Given the description of an element on the screen output the (x, y) to click on. 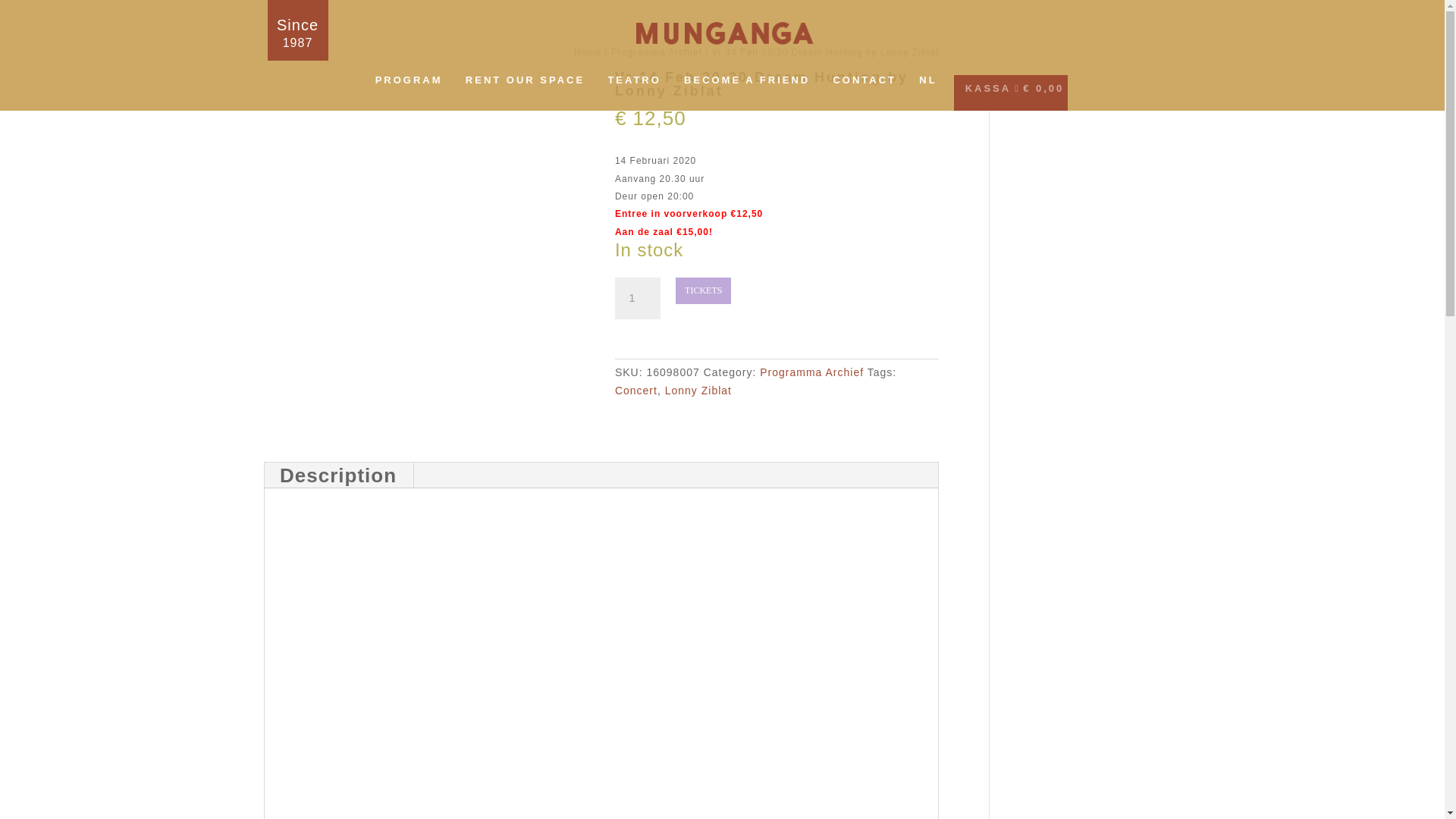
RENT OUR SPACE (525, 86)
1 (637, 298)
Description (338, 475)
Programma Archief (656, 51)
BECOME A FRIEND (746, 86)
PROGRAM (408, 86)
Home (587, 51)
Programma Archief (811, 372)
CONTACT (864, 86)
Concert (636, 390)
